Given the description of an element on the screen output the (x, y) to click on. 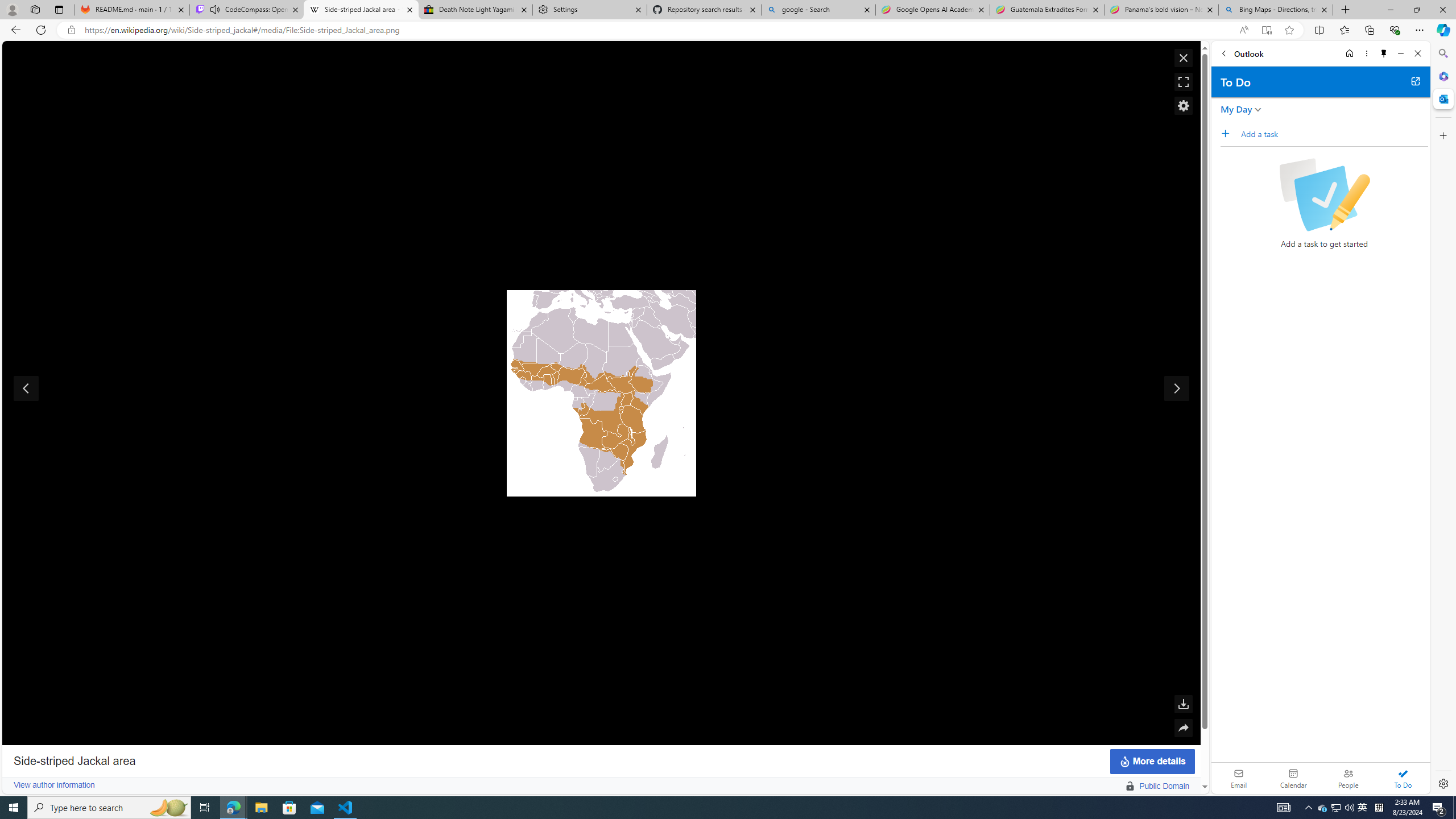
Show next image (1176, 388)
View author information (53, 784)
  Public Domain (1124, 786)
Show previous image (26, 388)
Email (1238, 777)
